Given the description of an element on the screen output the (x, y) to click on. 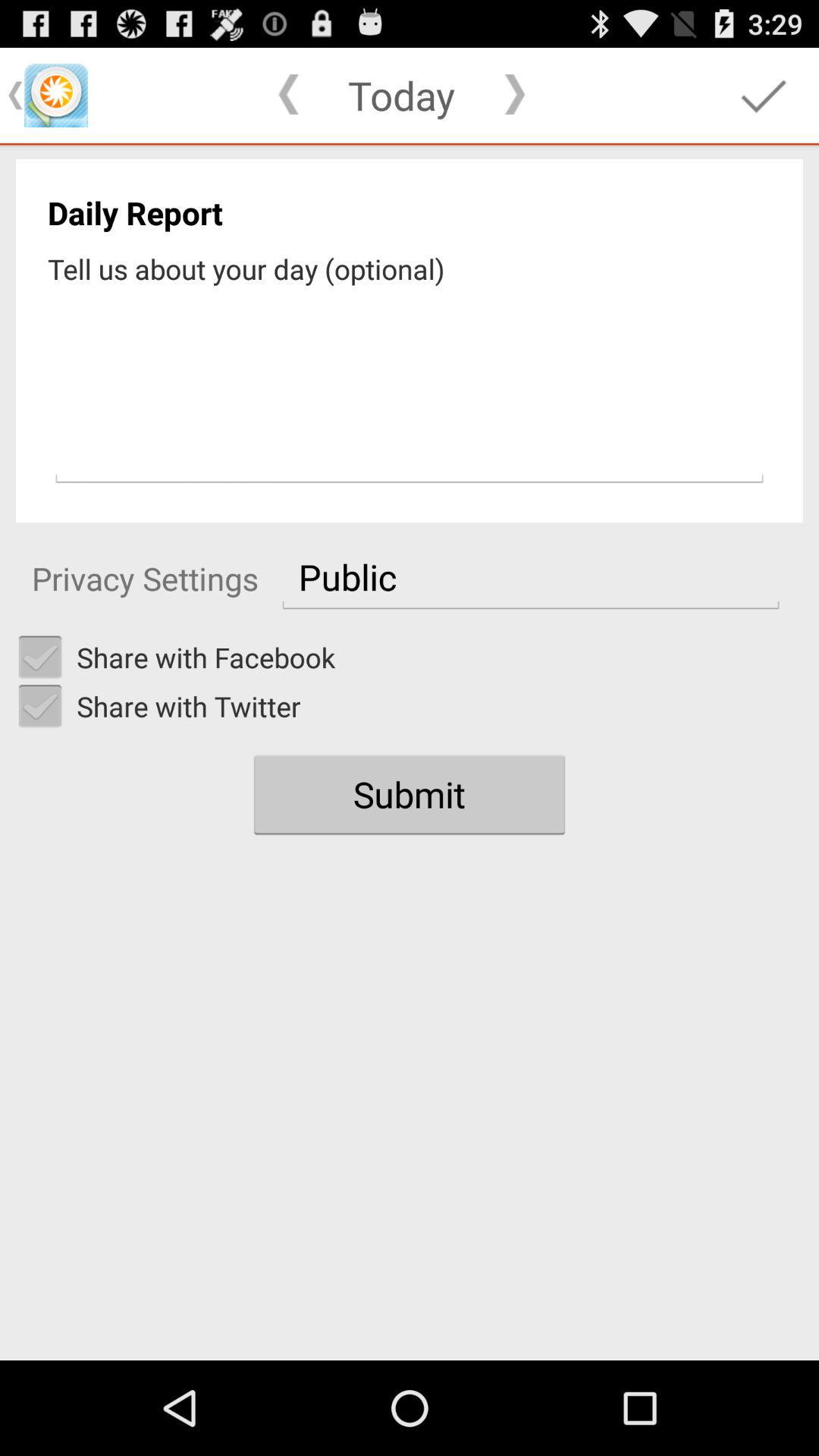
share with facebook (39, 657)
